Given the description of an element on the screen output the (x, y) to click on. 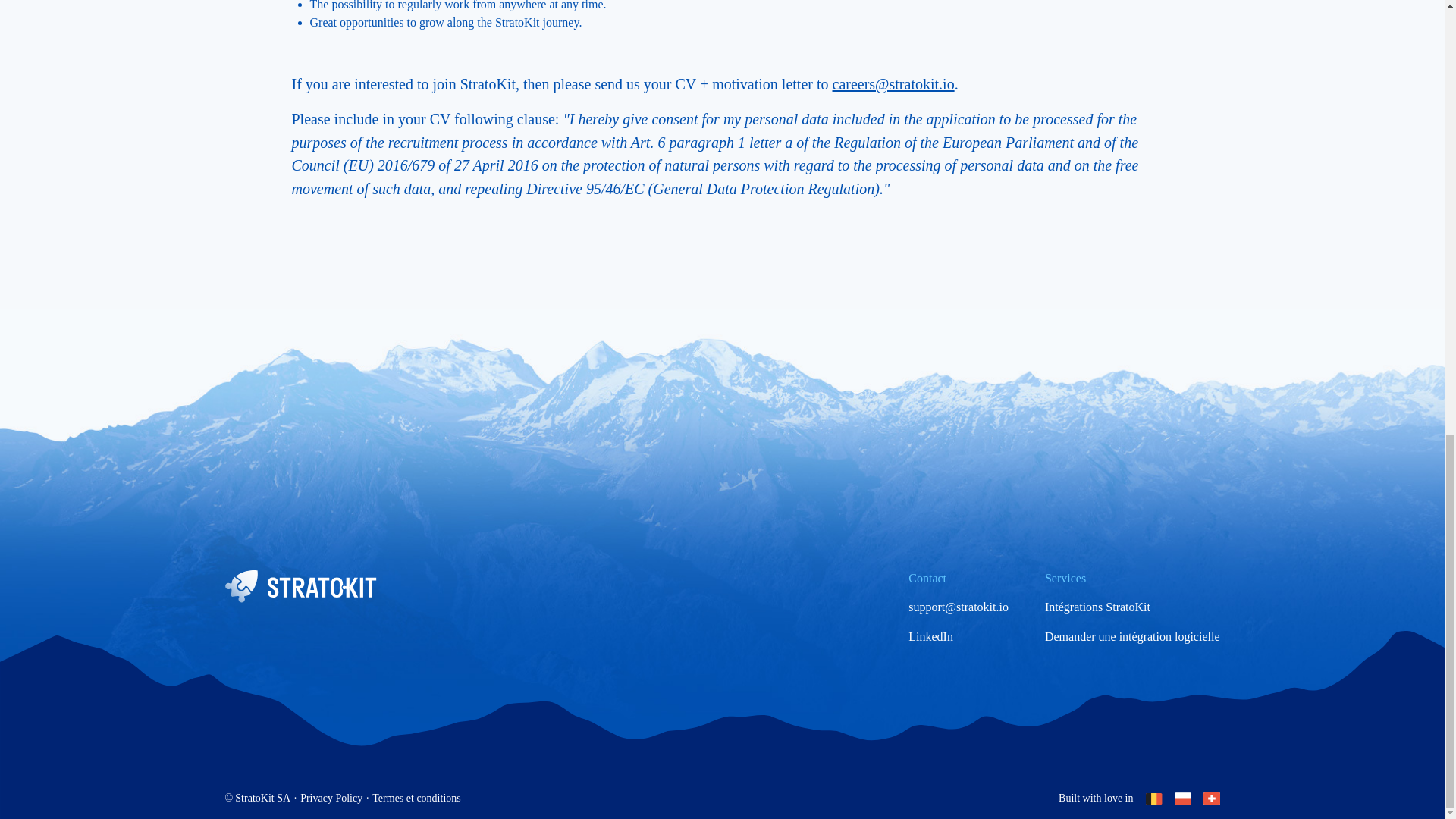
LinkedIn (930, 636)
